Given the description of an element on the screen output the (x, y) to click on. 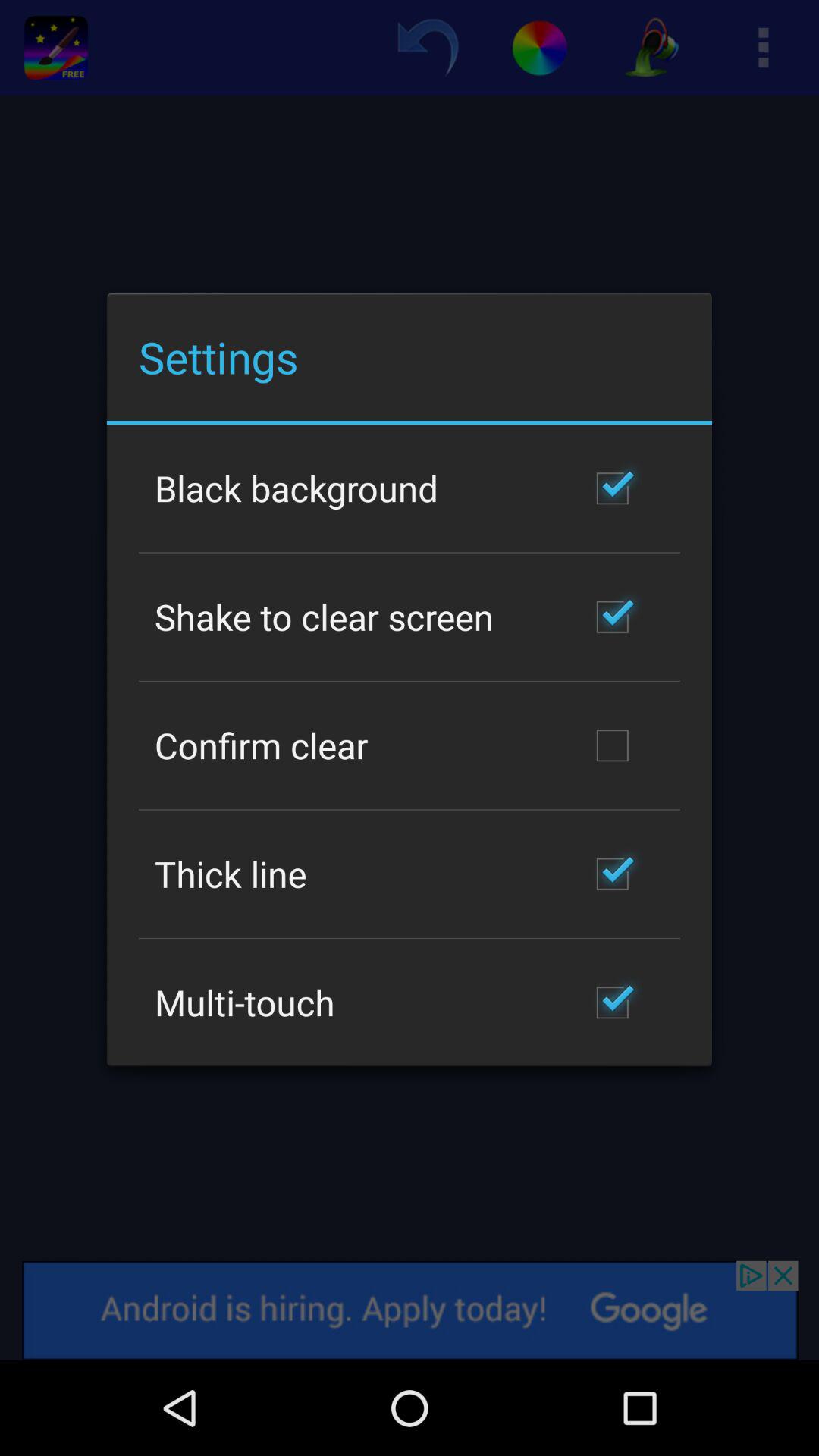
turn on item below the black background app (323, 616)
